Given the description of an element on the screen output the (x, y) to click on. 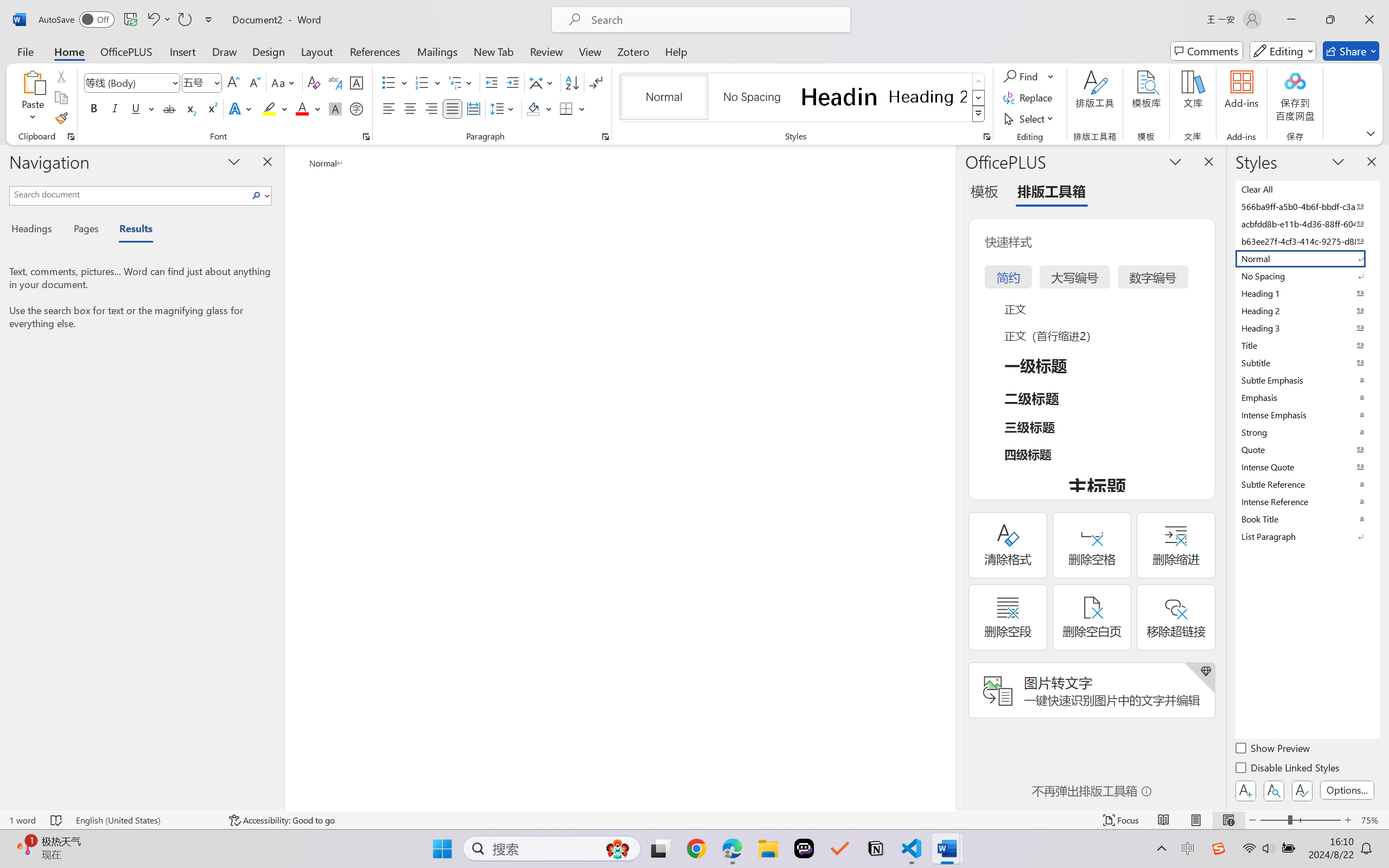
Shrink Font (253, 82)
